Given the description of an element on the screen output the (x, y) to click on. 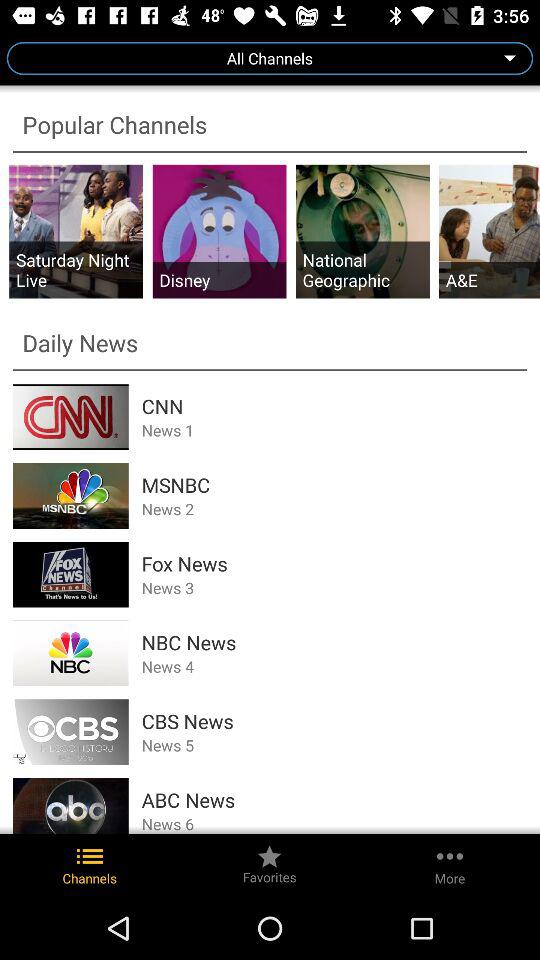
tap msnbc app (333, 484)
